Given the description of an element on the screen output the (x, y) to click on. 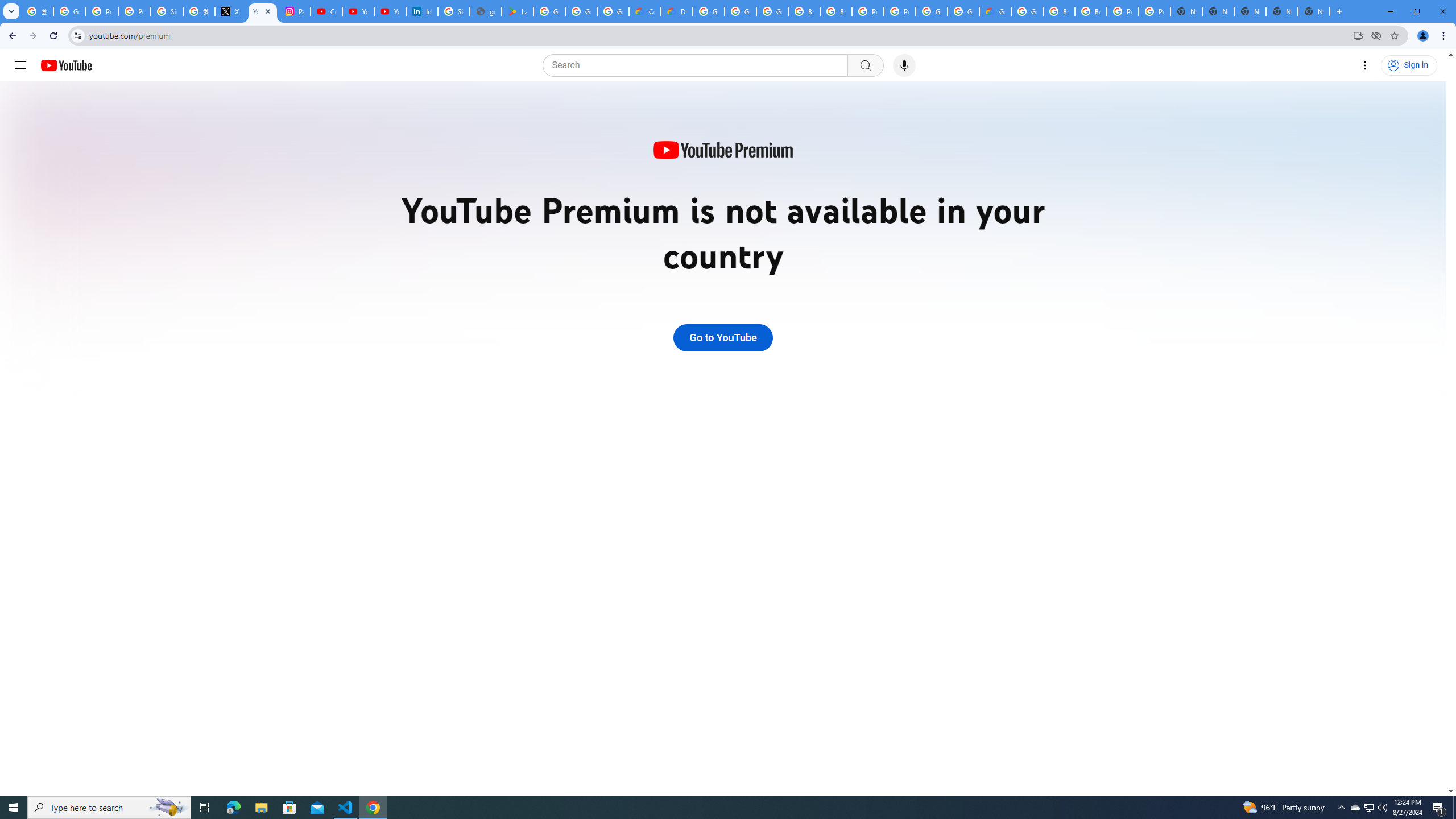
Search with your voice (903, 65)
